Given the description of an element on the screen output the (x, y) to click on. 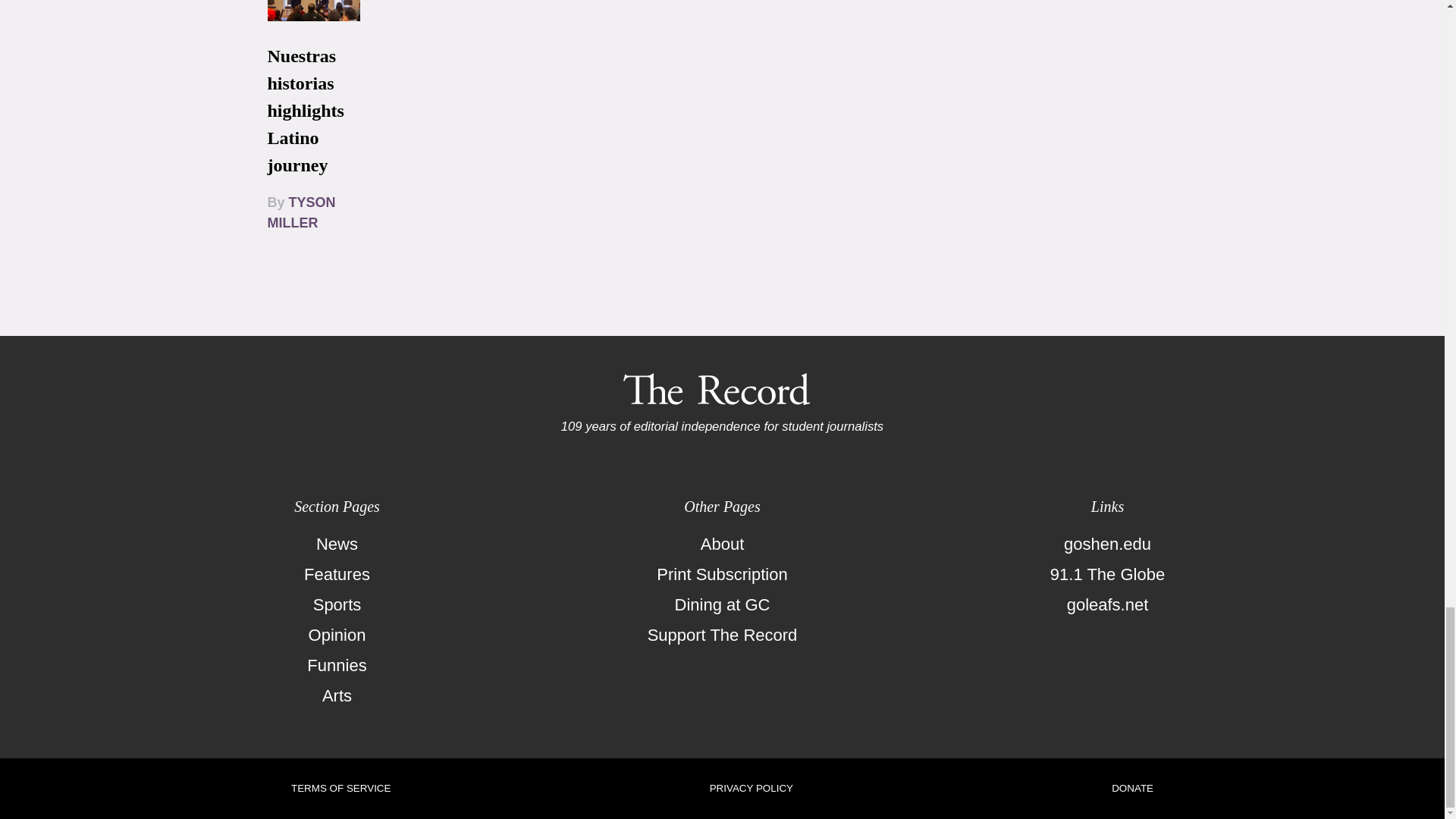
Opinion (336, 634)
TYSON MILLER (300, 212)
Arts (336, 695)
Features (336, 574)
News (336, 544)
Funnies (336, 665)
Sports (336, 604)
Print Subscription (722, 574)
Dining at GC (722, 604)
About (722, 544)
